Given the description of an element on the screen output the (x, y) to click on. 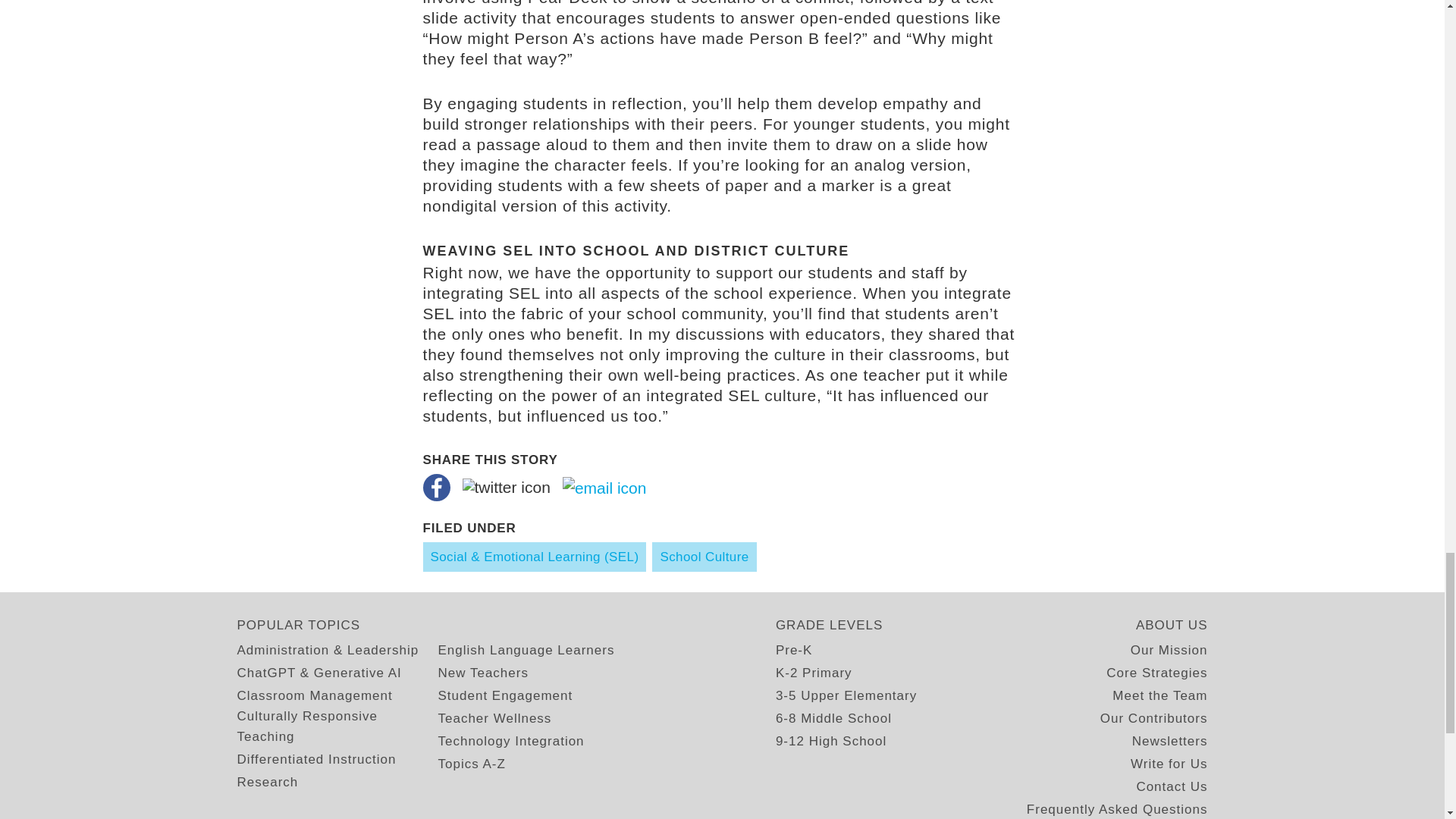
Student Engagement (505, 695)
Technology Integration (511, 741)
Culturally Responsive Teaching (336, 725)
Classroom Management (313, 695)
New Teachers (483, 672)
Differentiated Instruction (315, 759)
English Language Learners (526, 649)
Research (266, 782)
Teacher Wellness (494, 718)
School Culture (703, 556)
